Given the description of an element on the screen output the (x, y) to click on. 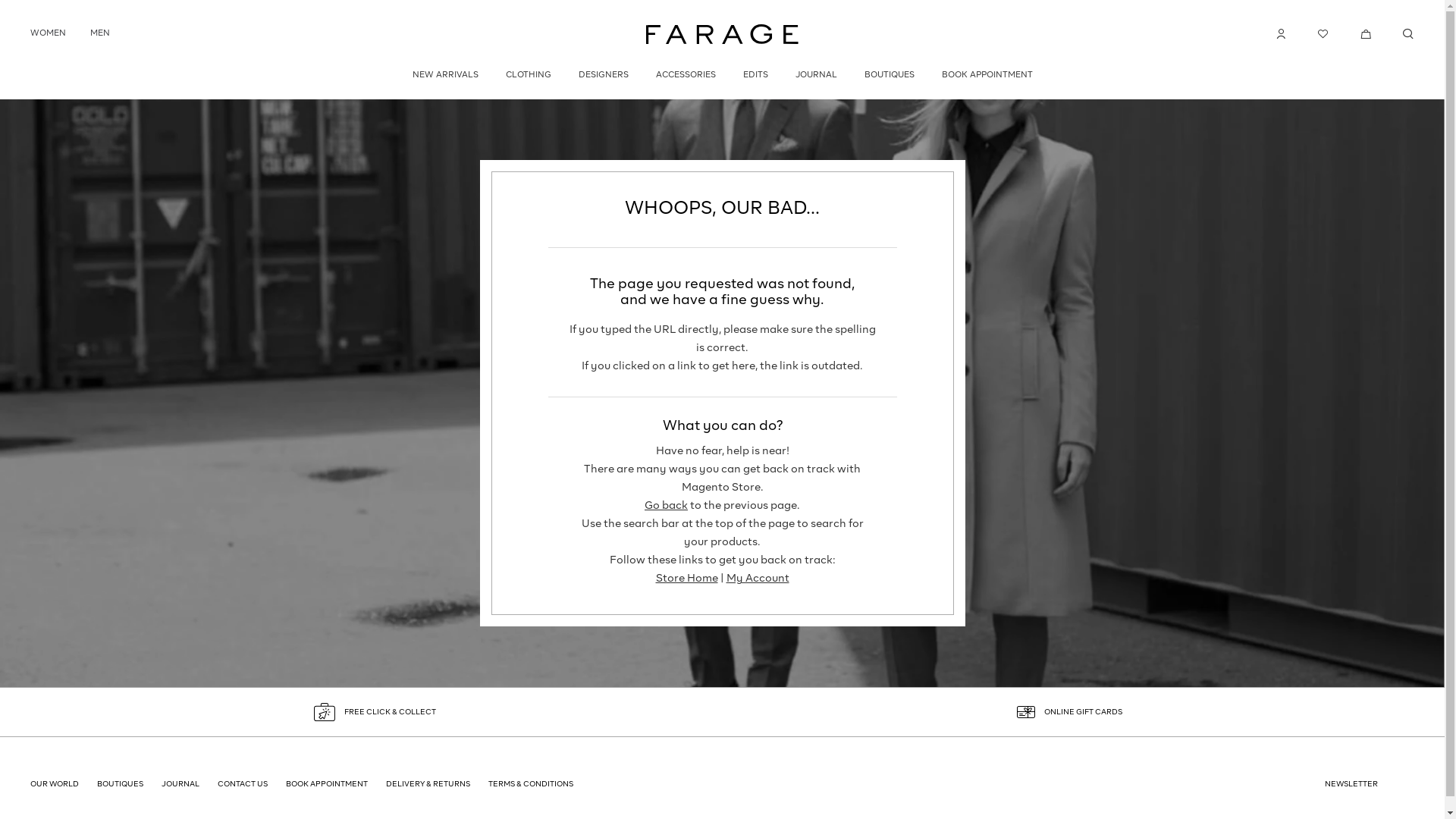
Store Home Element type: text (686, 578)
NEWSLETTER Element type: text (1350, 783)
BOOK APPOINTMENT Element type: text (326, 783)
BOUTIQUES Element type: text (889, 75)
BOOK APPOINTMENT Element type: text (987, 75)
CONTACT US Element type: text (242, 783)
CLOTHING Element type: text (527, 75)
DELIVERY & RETURNS Element type: text (427, 783)
NEW ARRIVALS Element type: text (445, 75)
JOURNAL Element type: text (815, 75)
ACCESSORIES Element type: text (684, 75)
JOURNAL Element type: text (180, 783)
FREE CLICK & COLLECT Element type: text (374, 711)
ONLINE GIFT CARDS Element type: text (1069, 711)
WOMEN Element type: text (47, 33)
TERMS & CONDITIONS Element type: text (530, 783)
BOUTIQUES Element type: text (120, 783)
DESIGNERS Element type: text (602, 75)
EDITS Element type: text (755, 75)
MEN Element type: text (99, 33)
OUR WORLD Element type: text (54, 783)
Go back Element type: text (665, 505)
My Account Element type: text (757, 578)
